Given the description of an element on the screen output the (x, y) to click on. 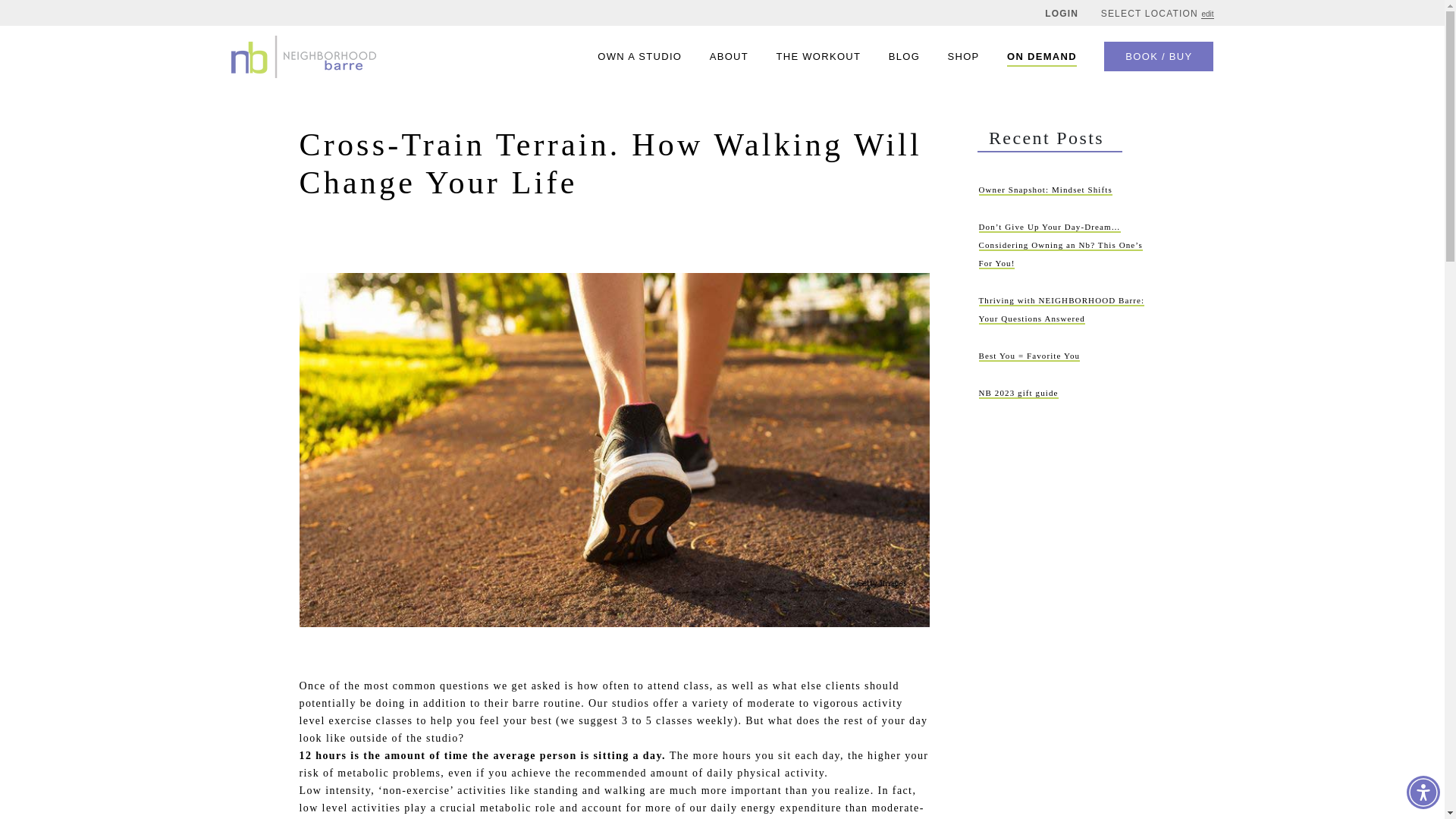
LOGIN (1061, 13)
OWN A STUDIO (638, 56)
Thriving with NEIGHBORHOOD Barre: Your Questions Answered (1061, 309)
Owner Snapshot: Mindset Shifts (1045, 190)
ABOUT (729, 56)
ON DEMAND (1042, 56)
NB 2023 gift guide (1018, 393)
Accessibility Menu (1422, 792)
SHOP (963, 56)
BLOG (904, 56)
THE WORKOUT (818, 56)
